Given the description of an element on the screen output the (x, y) to click on. 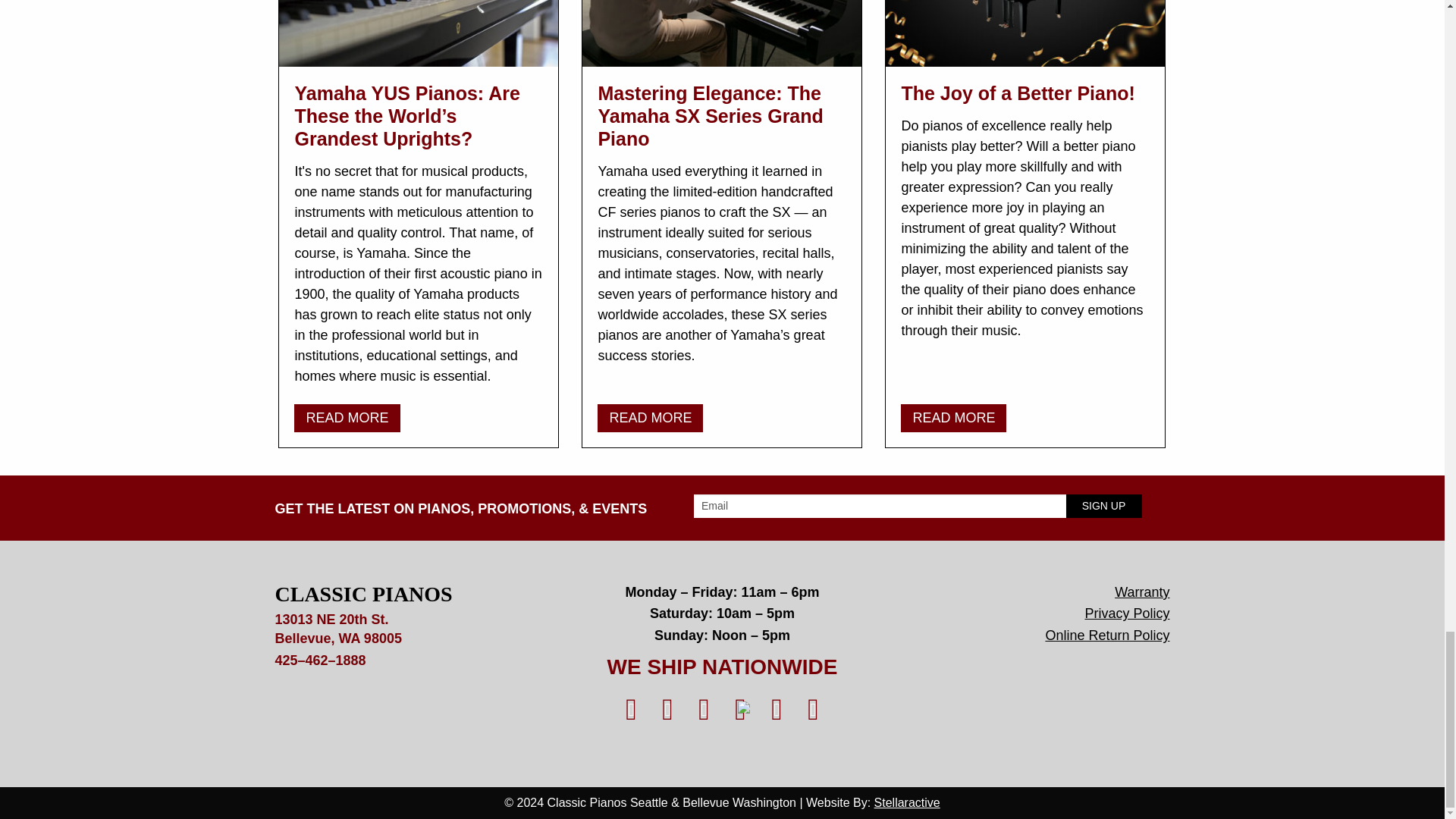
Mastering Elegance: The Yamaha SX Series Grand Piano (649, 418)
SIGN UP (1103, 505)
Mastering Elegance: The Yamaha SX Series Grand Piano (709, 115)
Mastering Elegance: The Yamaha SX Series Grand Piano (721, 33)
